Given the description of an element on the screen output the (x, y) to click on. 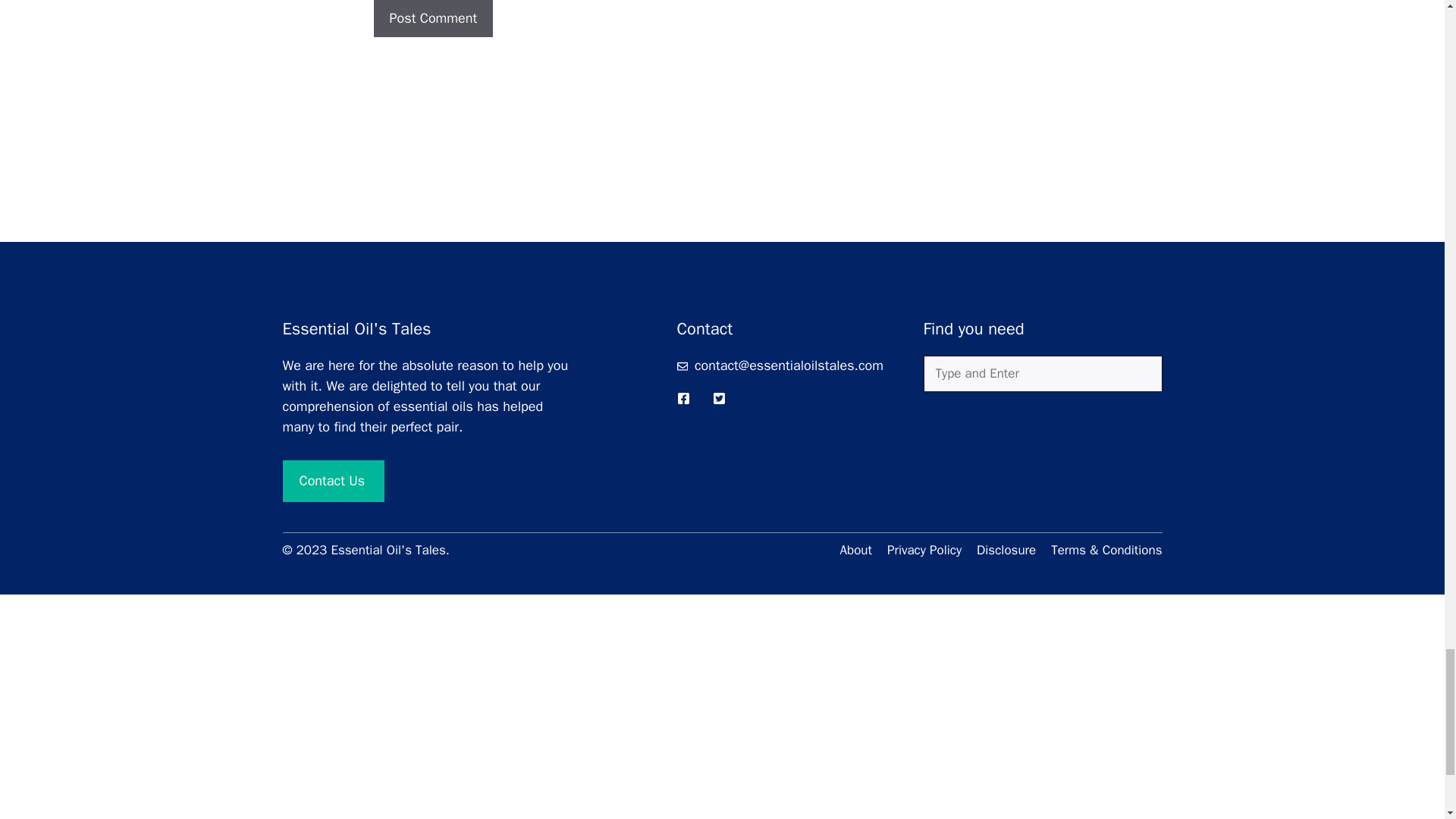
Post Comment (432, 18)
Privacy Policy (923, 550)
Contact Us (333, 481)
Disclosure (1005, 550)
Post Comment (432, 18)
About (856, 550)
